Given the description of an element on the screen output the (x, y) to click on. 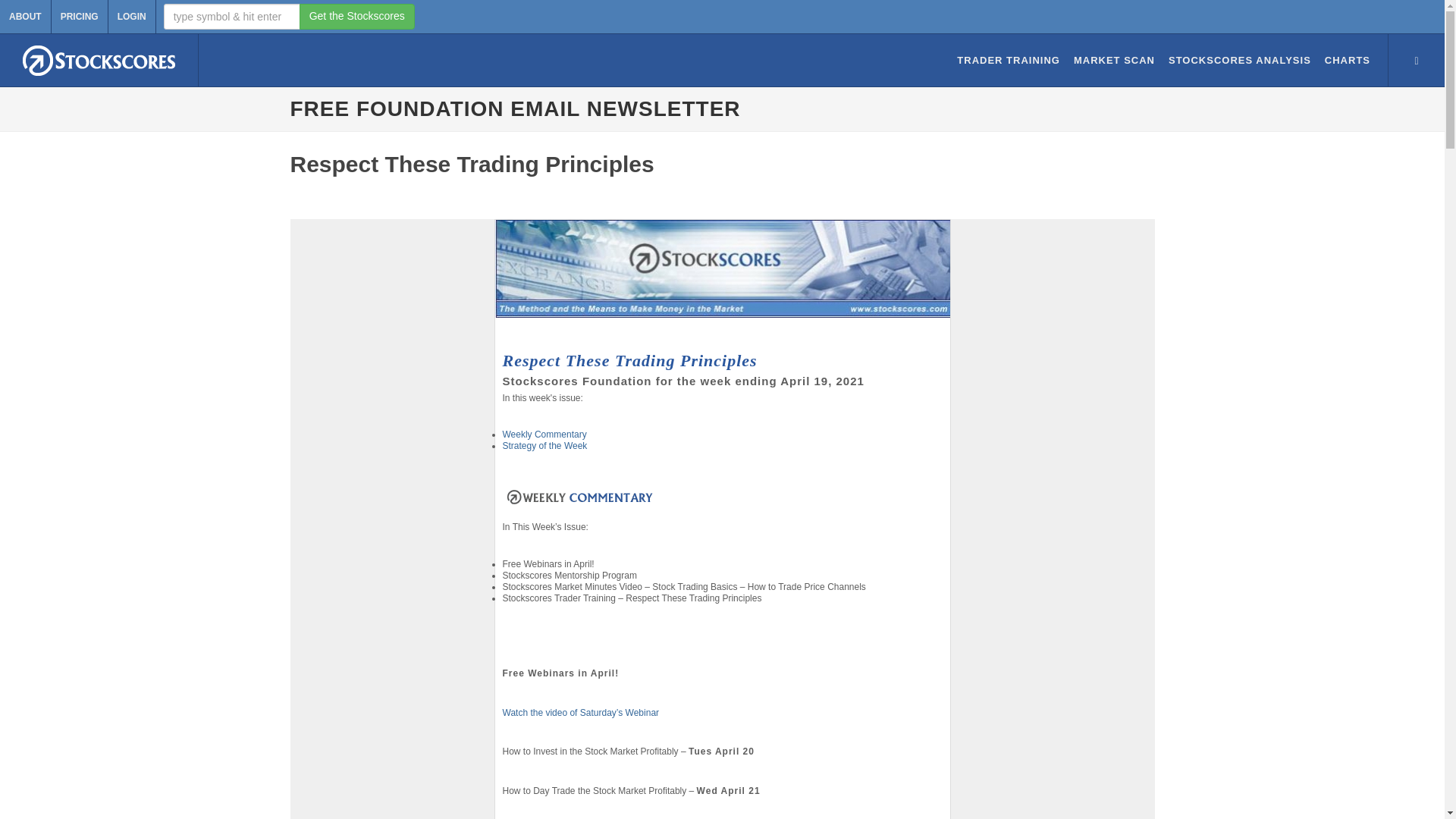
TRADER TRAINING (1007, 60)
STOCKSCORES ANALYSIS (1239, 60)
LOGIN (131, 16)
MARKET SCAN (1113, 60)
ABOUT (25, 16)
Get the Stockscores (356, 16)
CHARTS (1347, 60)
PRICING (78, 16)
